Given the description of an element on the screen output the (x, y) to click on. 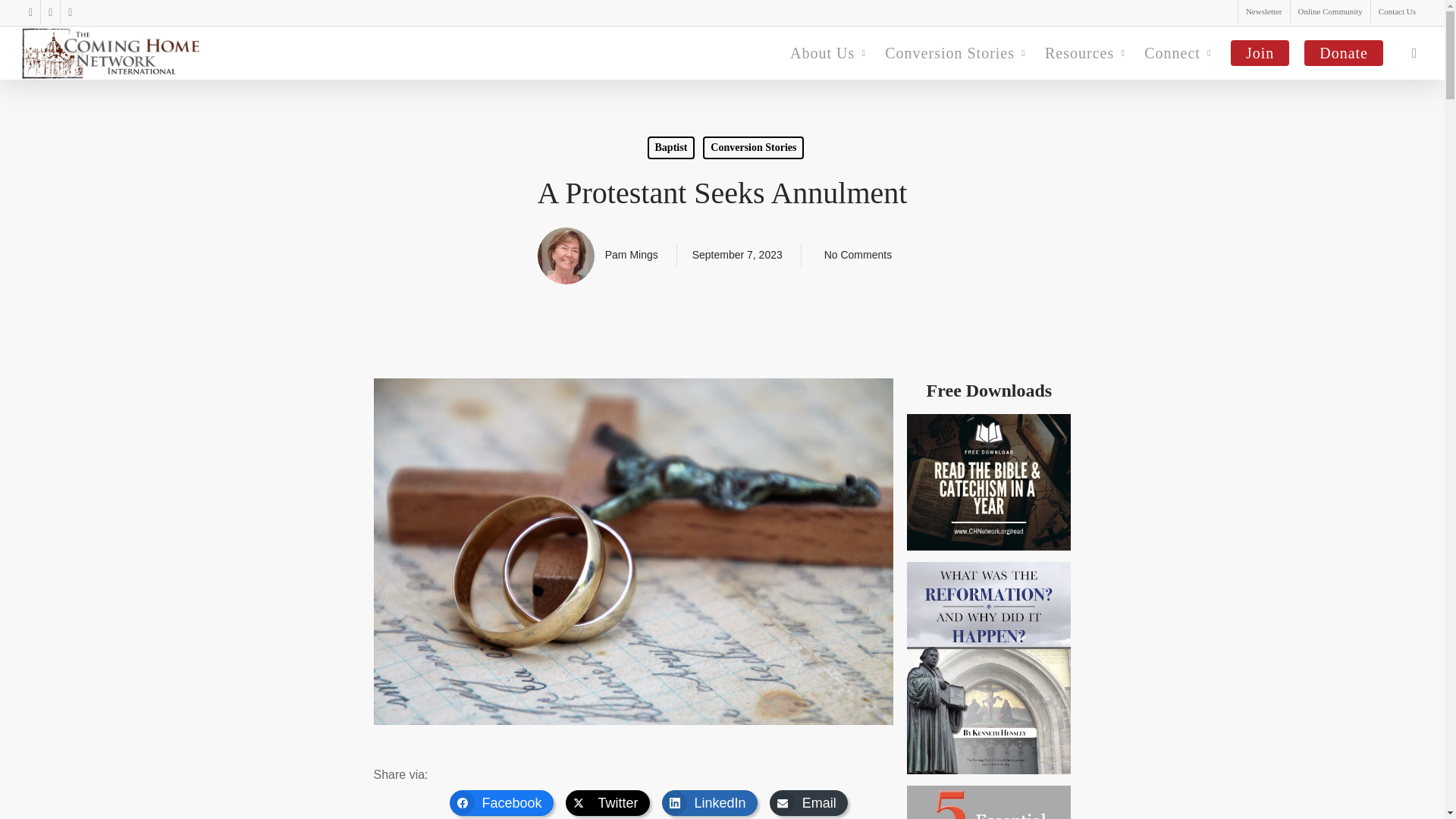
Resources (1087, 52)
About Us (829, 52)
Conversion Stories (957, 52)
Contact Us (1396, 11)
Online Community (1330, 11)
Newsletter (1263, 11)
